Given the description of an element on the screen output the (x, y) to click on. 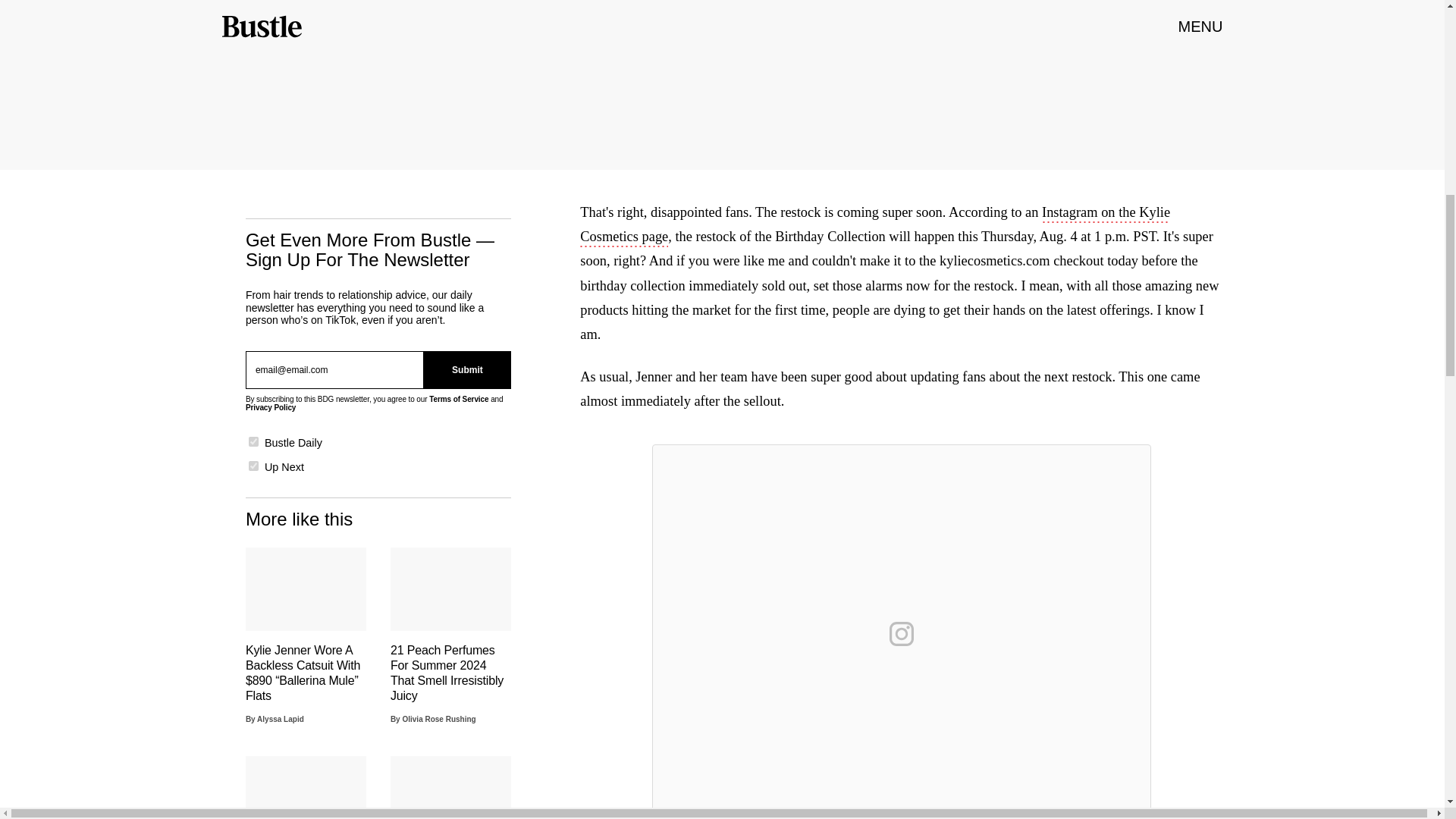
Privacy Policy (270, 407)
Submit (467, 370)
Instagram on the Kylie Cosmetics page (874, 225)
View on Instagram (901, 633)
Terms of Service (458, 398)
